Given the description of an element on the screen output the (x, y) to click on. 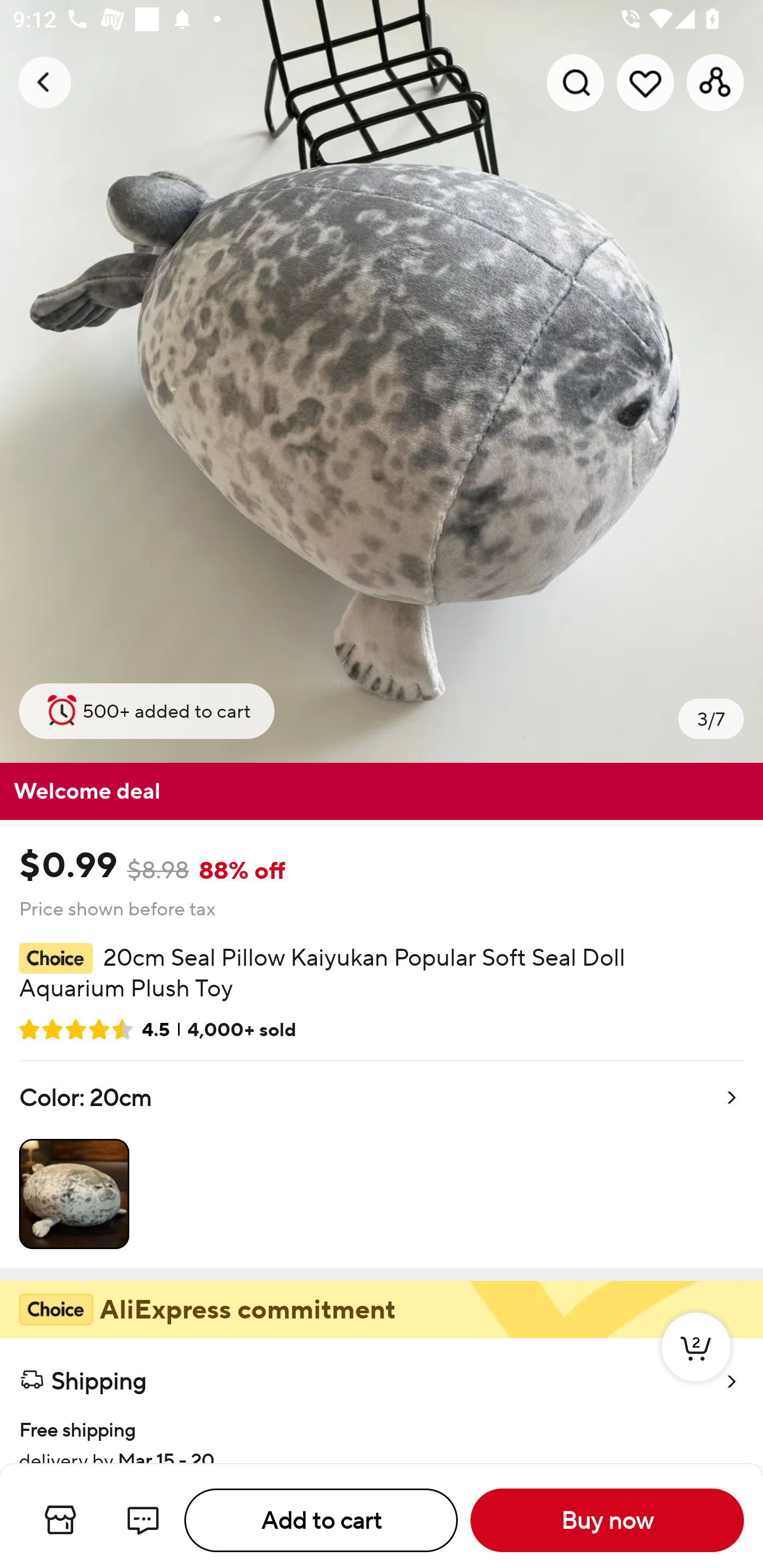
Navigate up (44, 82)
Color: 20cm  (381, 1164)
2 (695, 1366)
Shipping  Free shipping  delivery by Mar 15 - 20  (381, 1399)
Free shipping  delivery by Mar 15 - 20  (381, 1431)
Add to cart (320, 1520)
Buy now (606, 1520)
